Given the description of an element on the screen output the (x, y) to click on. 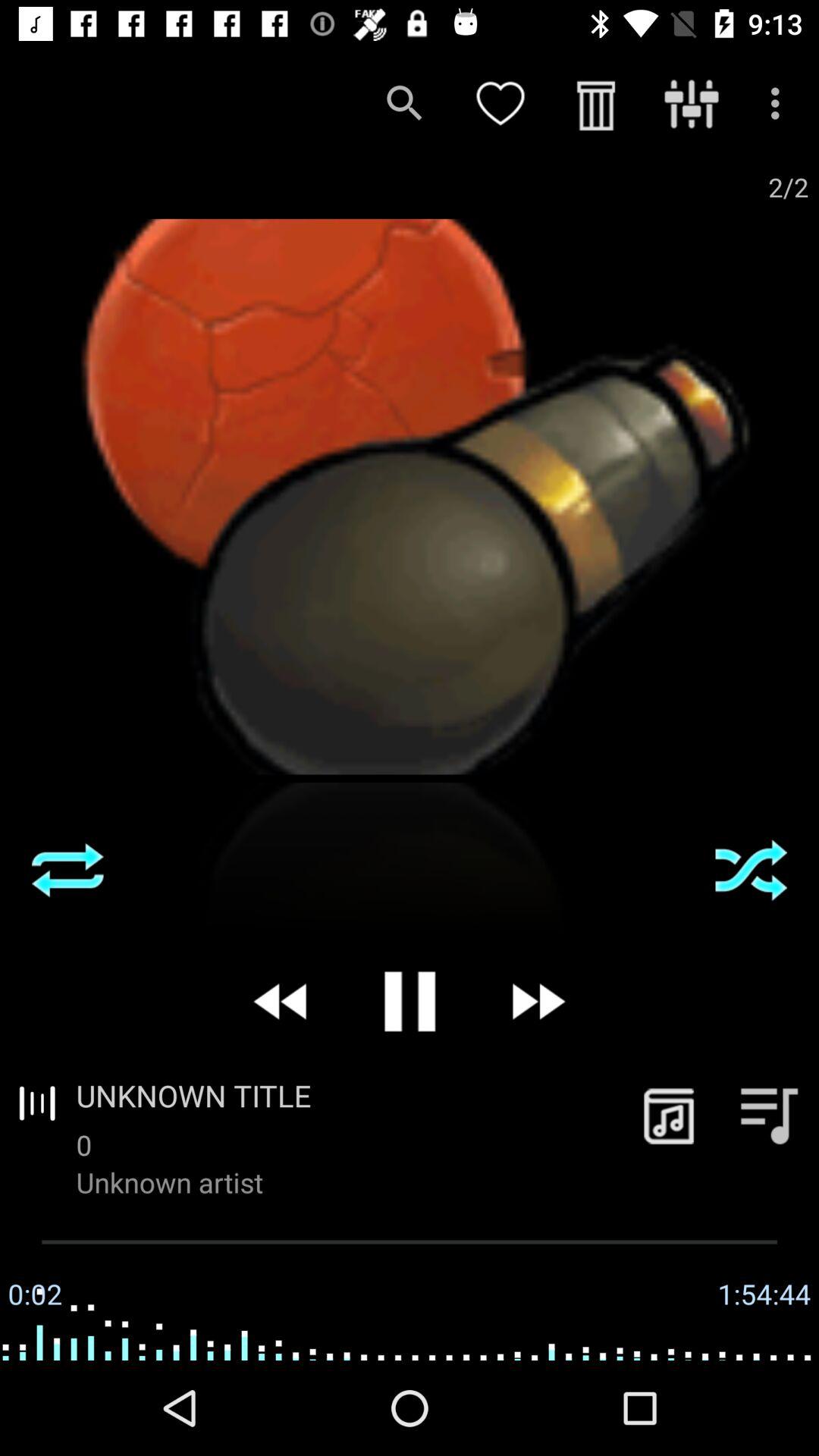
rewind (281, 1001)
